Given the description of an element on the screen output the (x, y) to click on. 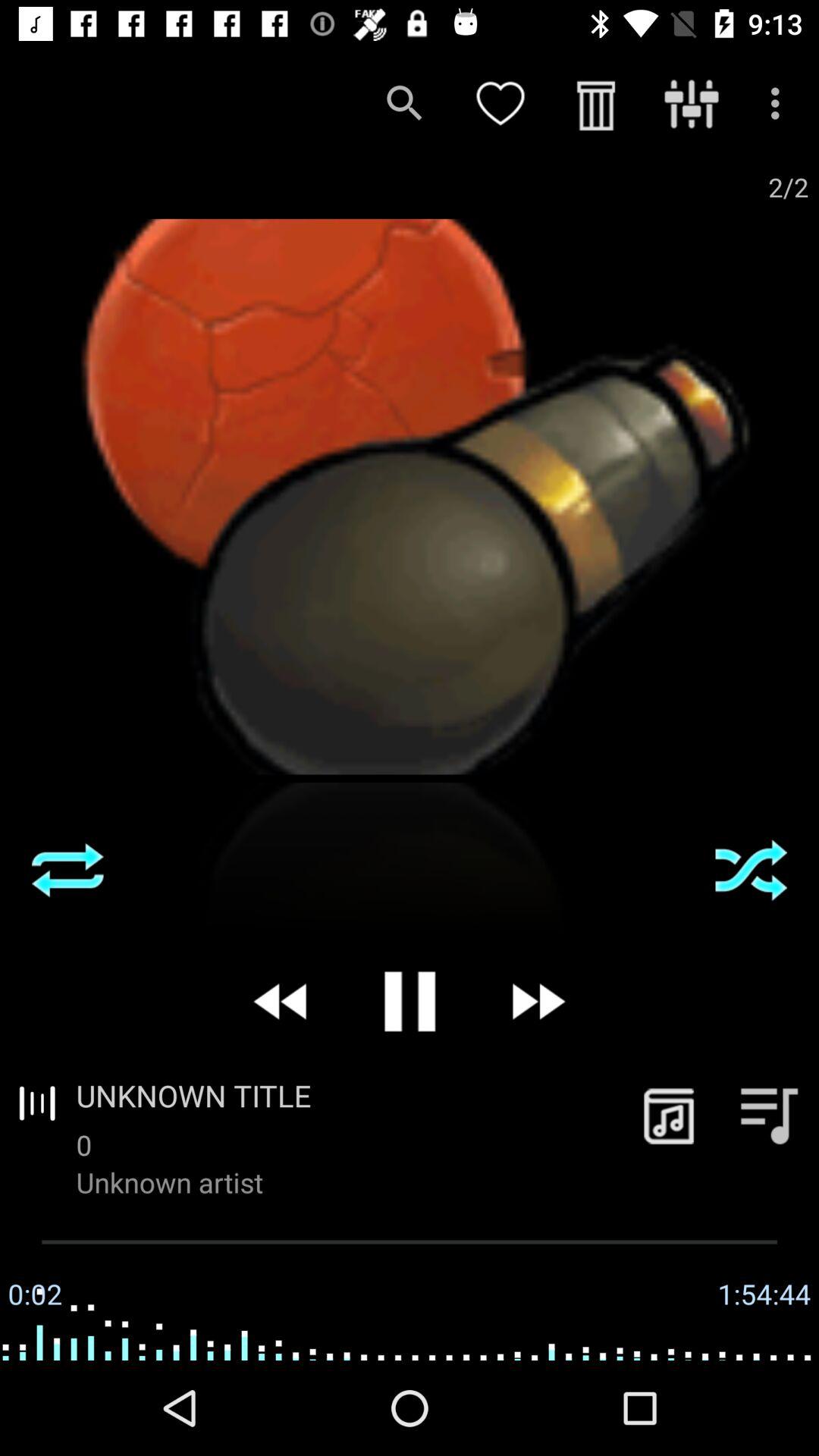
rewind (281, 1001)
